Given the description of an element on the screen output the (x, y) to click on. 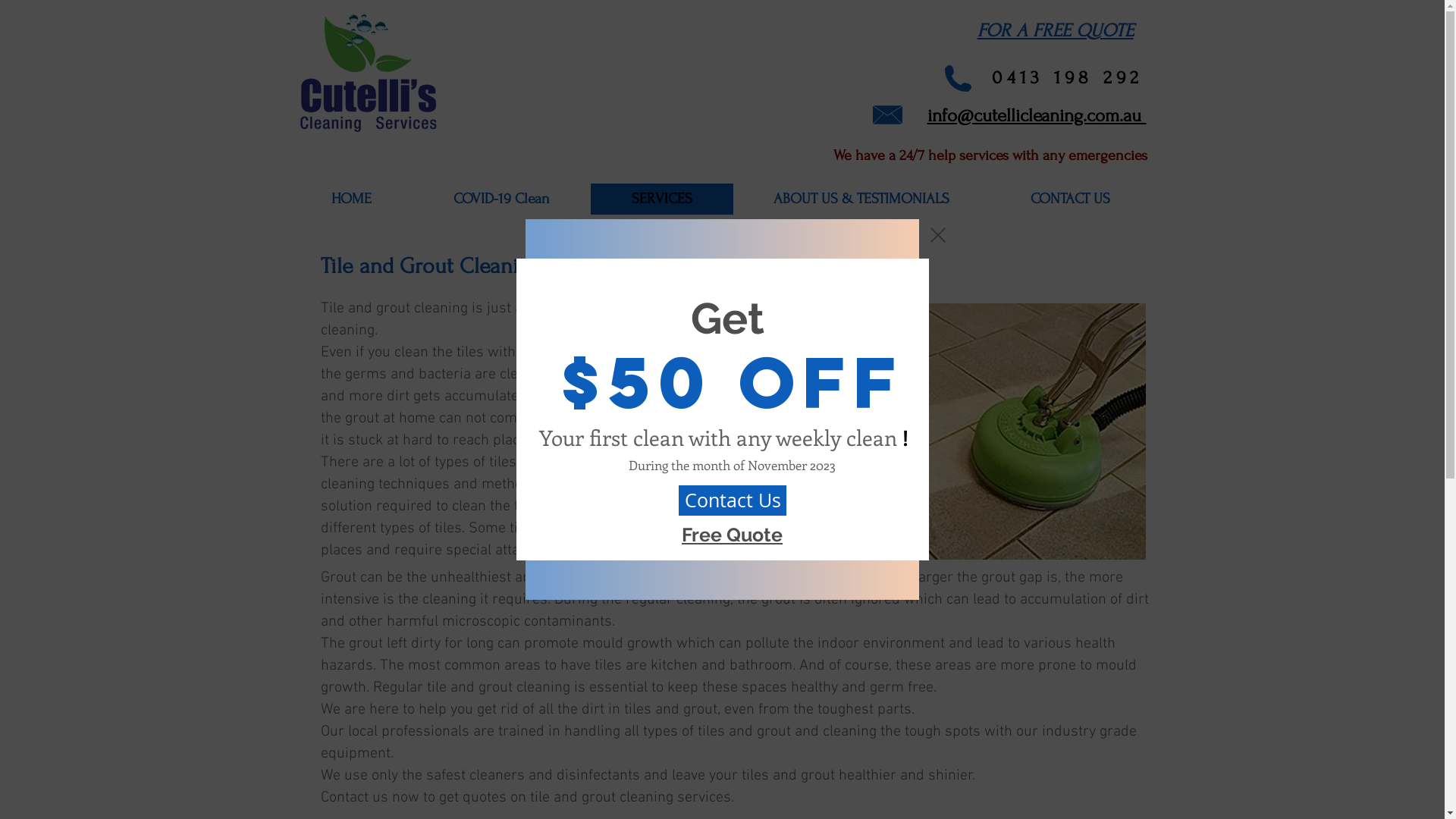
Free Quote Element type: text (731, 533)
CONTACT US Element type: text (1070, 198)
Back to site Element type: hover (937, 234)
ABOUT US & TESTIMONIALS Element type: text (860, 198)
HOME Element type: text (350, 198)
SERVICES Element type: text (660, 198)
COVID-19 Clean Element type: text (501, 198)
info@cutellicleaning.com.au  Element type: text (1035, 112)
Contact Us Element type: text (732, 500)
